Given the description of an element on the screen output the (x, y) to click on. 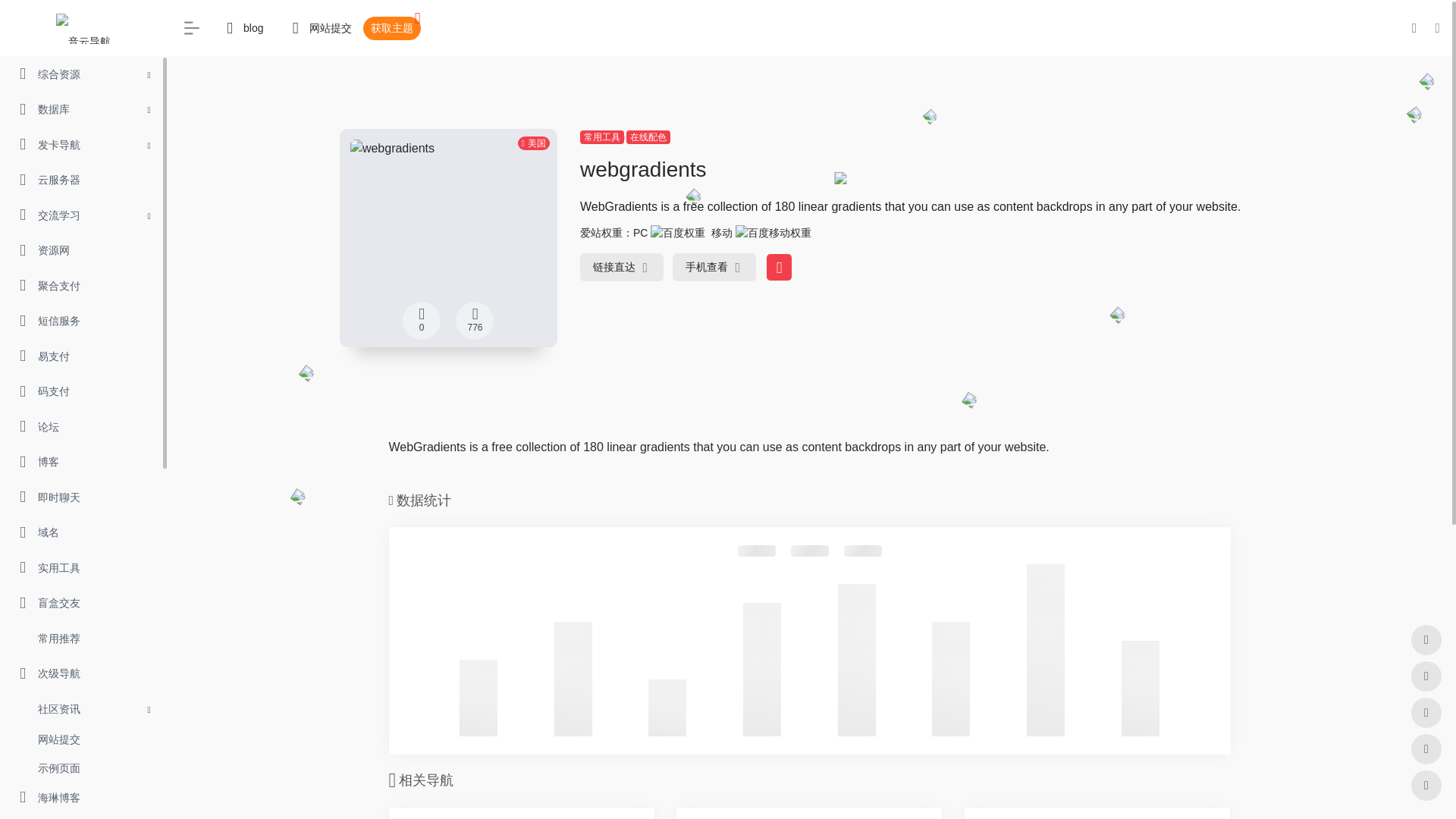
Beautiful Color Palettes (520, 813)
webgradients (621, 267)
